Given the description of an element on the screen output the (x, y) to click on. 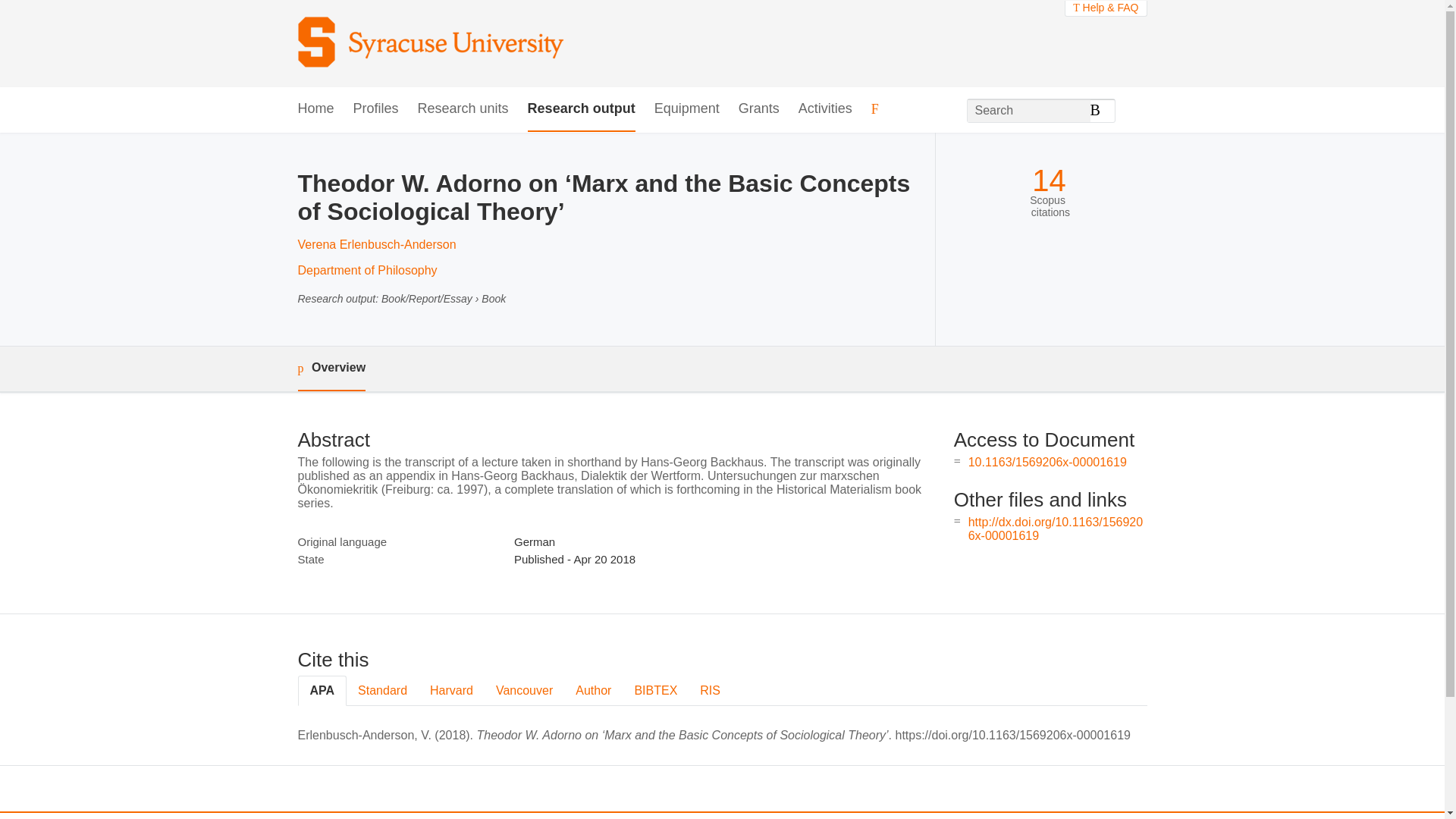
Department of Philosophy (366, 269)
14 (1048, 180)
Overview (331, 368)
Equipment (686, 108)
Research output (580, 108)
Verena Erlenbusch-Anderson (376, 244)
Research units (462, 108)
Activities (824, 108)
Grants (758, 108)
Profiles (375, 108)
